Given the description of an element on the screen output the (x, y) to click on. 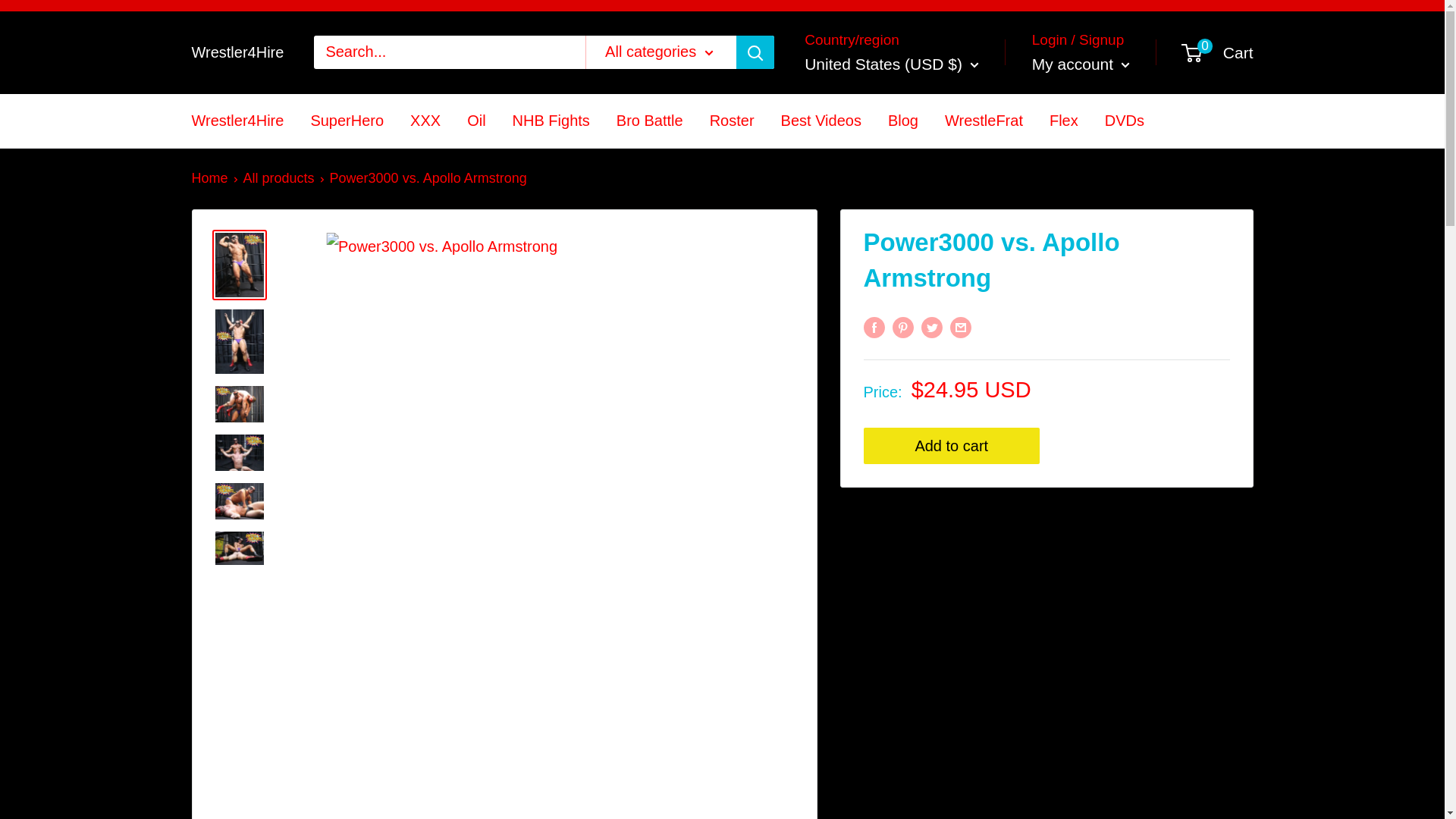
AT (819, 486)
AF (819, 119)
Wrestler4Hire (236, 52)
AI (819, 288)
AG (819, 317)
DZ (819, 204)
AC (819, 429)
BD (819, 599)
AL (819, 175)
AD (819, 232)
